Given the description of an element on the screen output the (x, y) to click on. 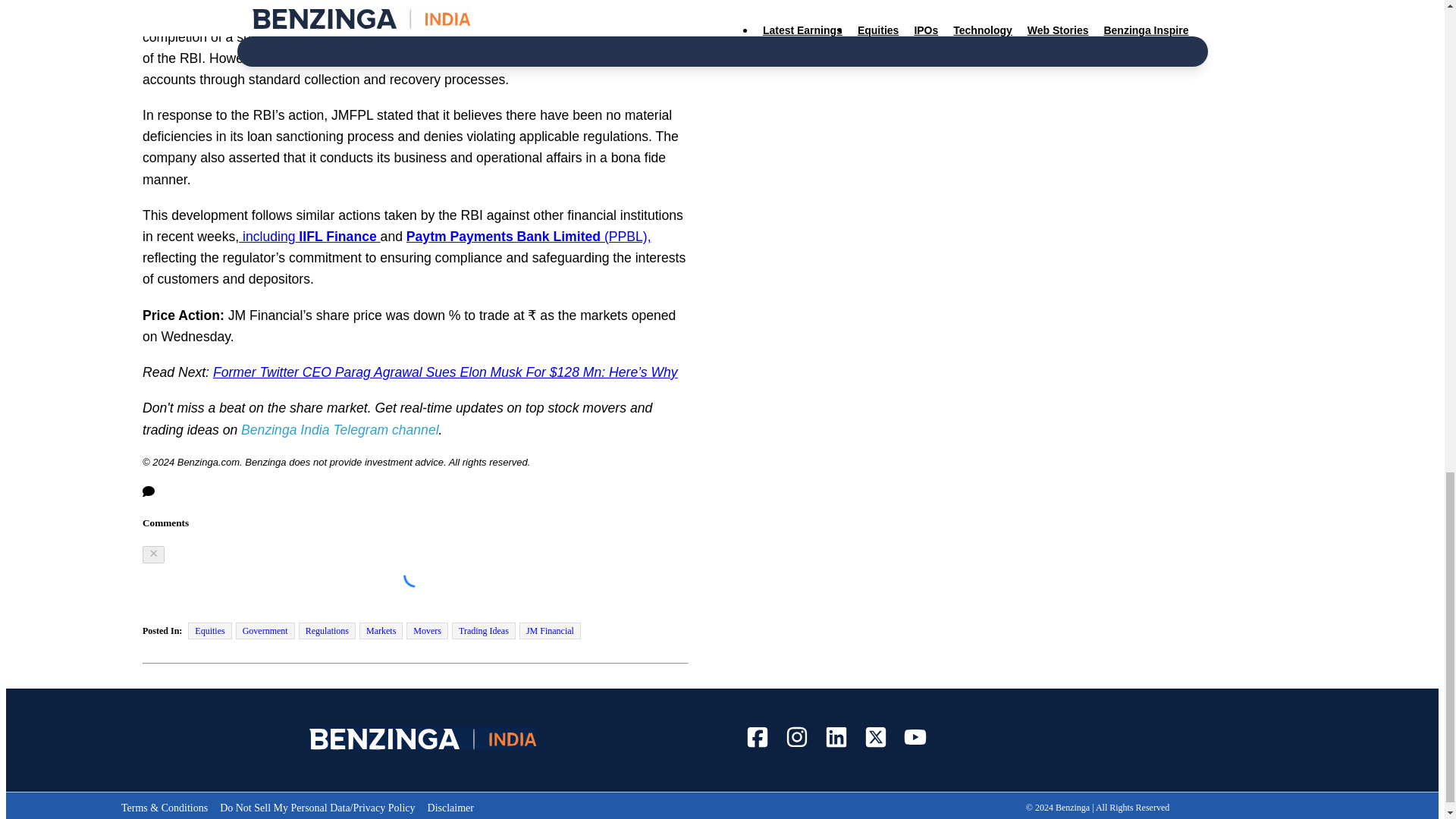
Equities (209, 630)
Disclaimer (451, 808)
Markets (381, 630)
Benzinga India Telegram channel (340, 429)
Movers (427, 630)
including IIFL Finance (309, 236)
JM Financial (549, 630)
Regulations (326, 630)
Close menu (153, 554)
Government (265, 630)
